Given the description of an element on the screen output the (x, y) to click on. 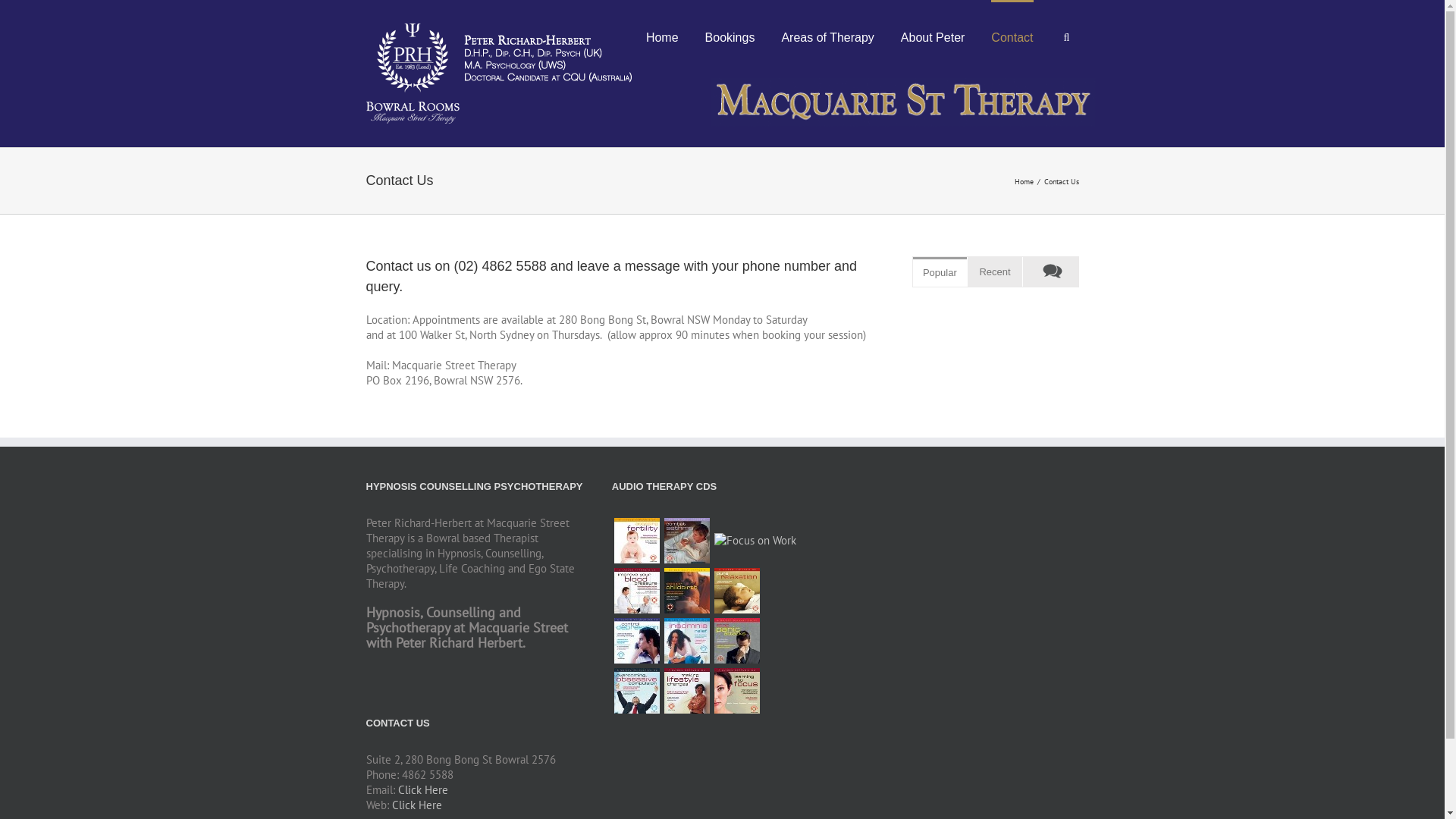
Home Element type: text (1025, 180)
Bookings Element type: text (730, 36)
Contact Element type: text (1011, 36)
Home Element type: text (662, 36)
About Peter Element type: text (932, 36)
Recent Element type: text (994, 271)
Areas of Therapy Element type: text (827, 36)
Click Here Element type: text (422, 789)
Popular Element type: text (940, 271)
Click Here Element type: text (416, 804)
